Given the description of an element on the screen output the (x, y) to click on. 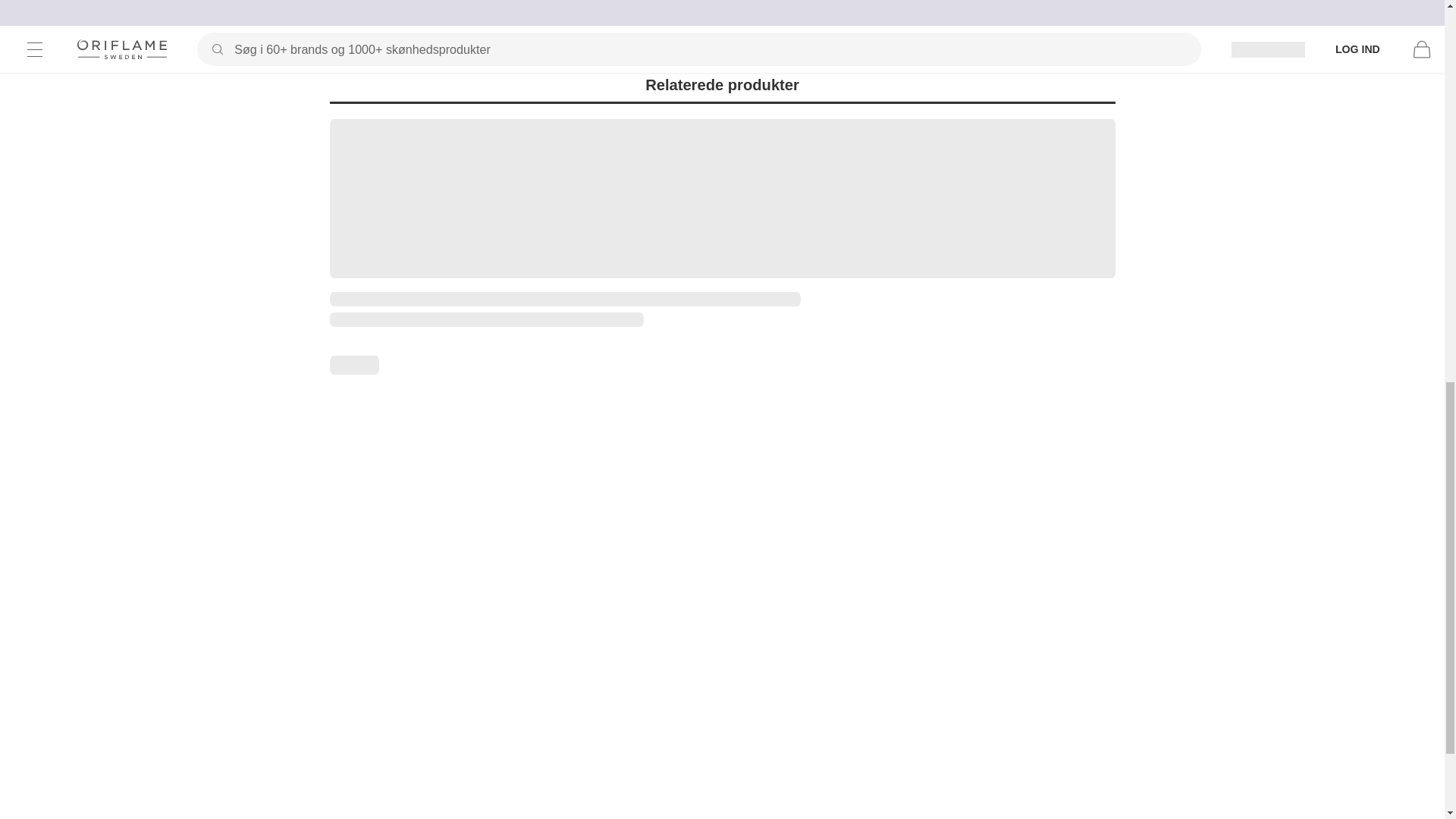
Relaterede produkter (722, 85)
Relaterede produkter (722, 85)
